Given the description of an element on the screen output the (x, y) to click on. 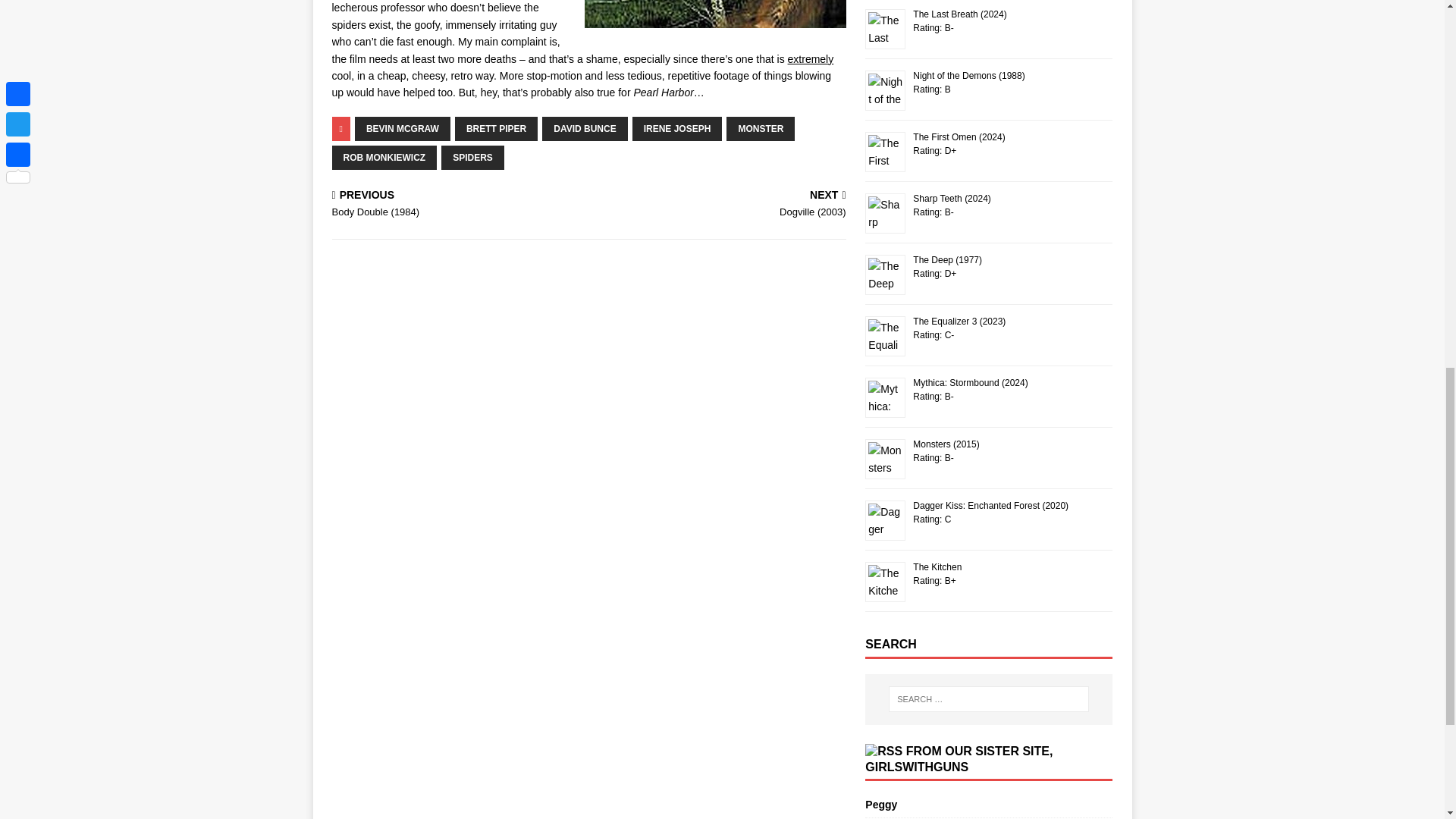
BEVIN MCGRAW (402, 128)
ROB MONKIEWICZ (384, 157)
DAVID BUNCE (584, 128)
SPIDERS (472, 157)
MONSTER (760, 128)
BRETT PIPER (495, 128)
IRENE JOSEPH (676, 128)
